Given the description of an element on the screen output the (x, y) to click on. 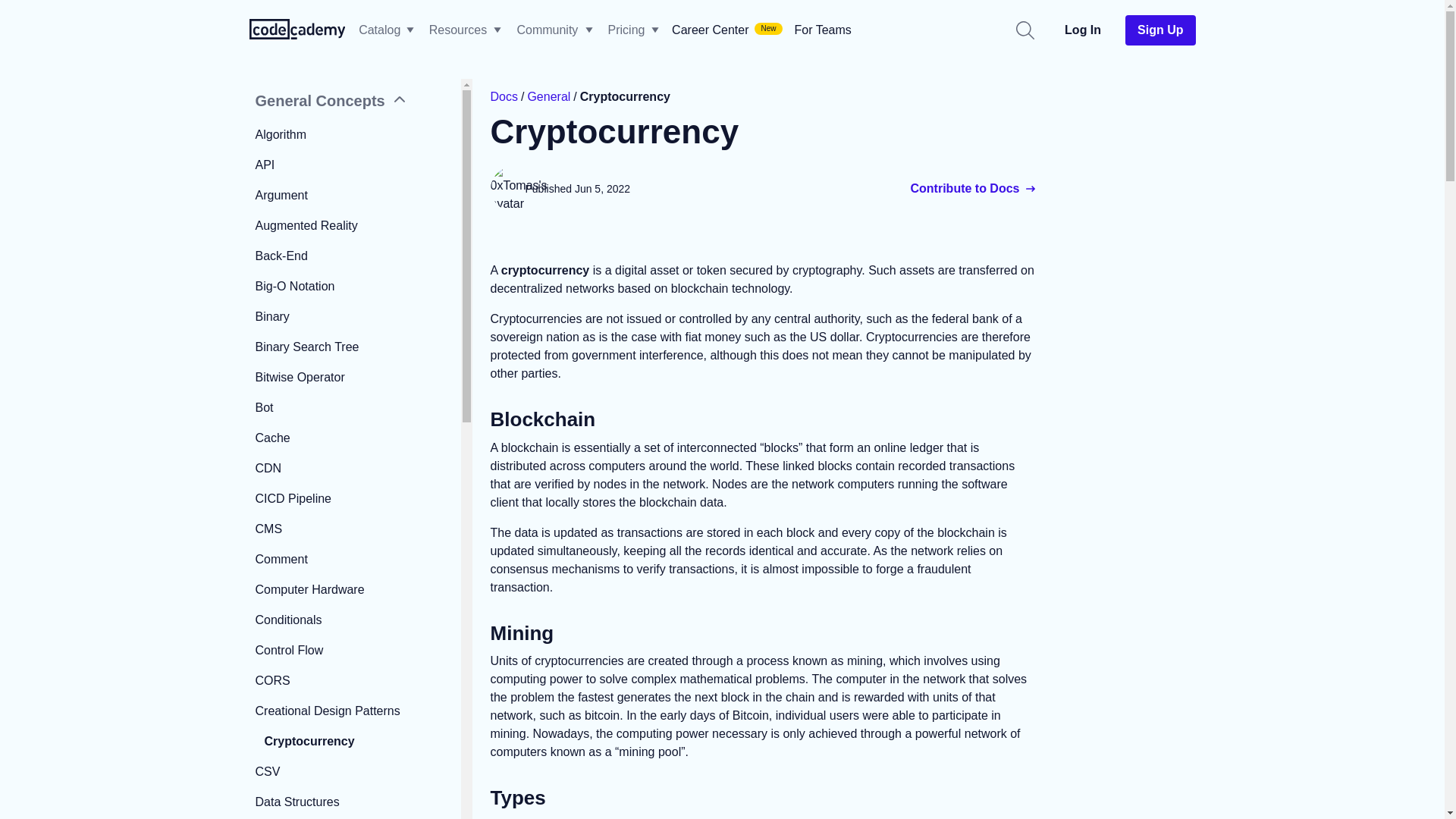
Catalog (385, 30)
Pricing (632, 30)
Codecademy Logo (296, 28)
Codecademy Logo (296, 30)
Community (546, 30)
Pricing (625, 30)
Resources (464, 30)
Resources (464, 30)
Catalog (385, 30)
Community (553, 30)
Resources (457, 30)
Catalog (378, 30)
